Given the description of an element on the screen output the (x, y) to click on. 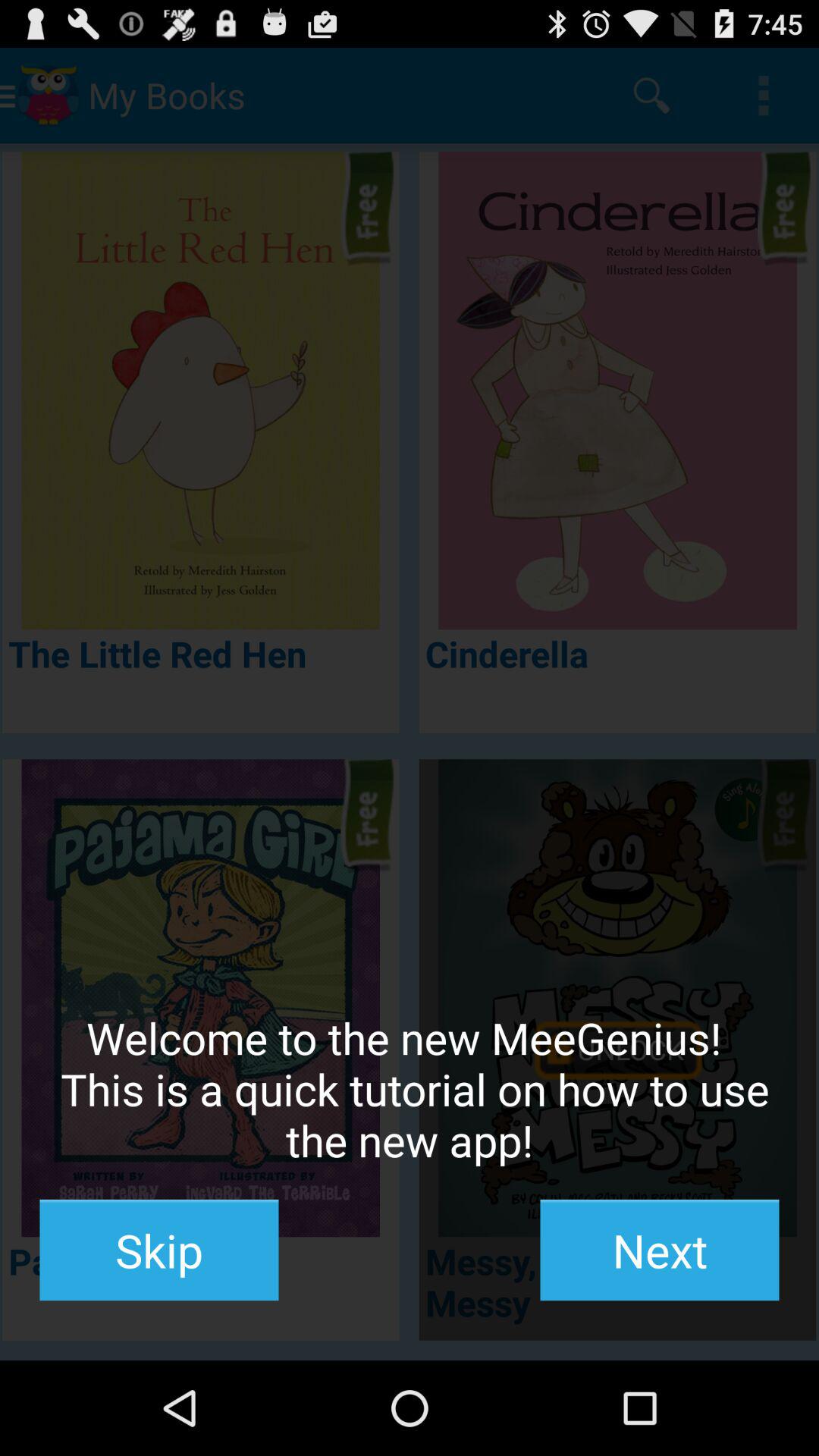
launch app below the welcome to the item (158, 1249)
